Given the description of an element on the screen output the (x, y) to click on. 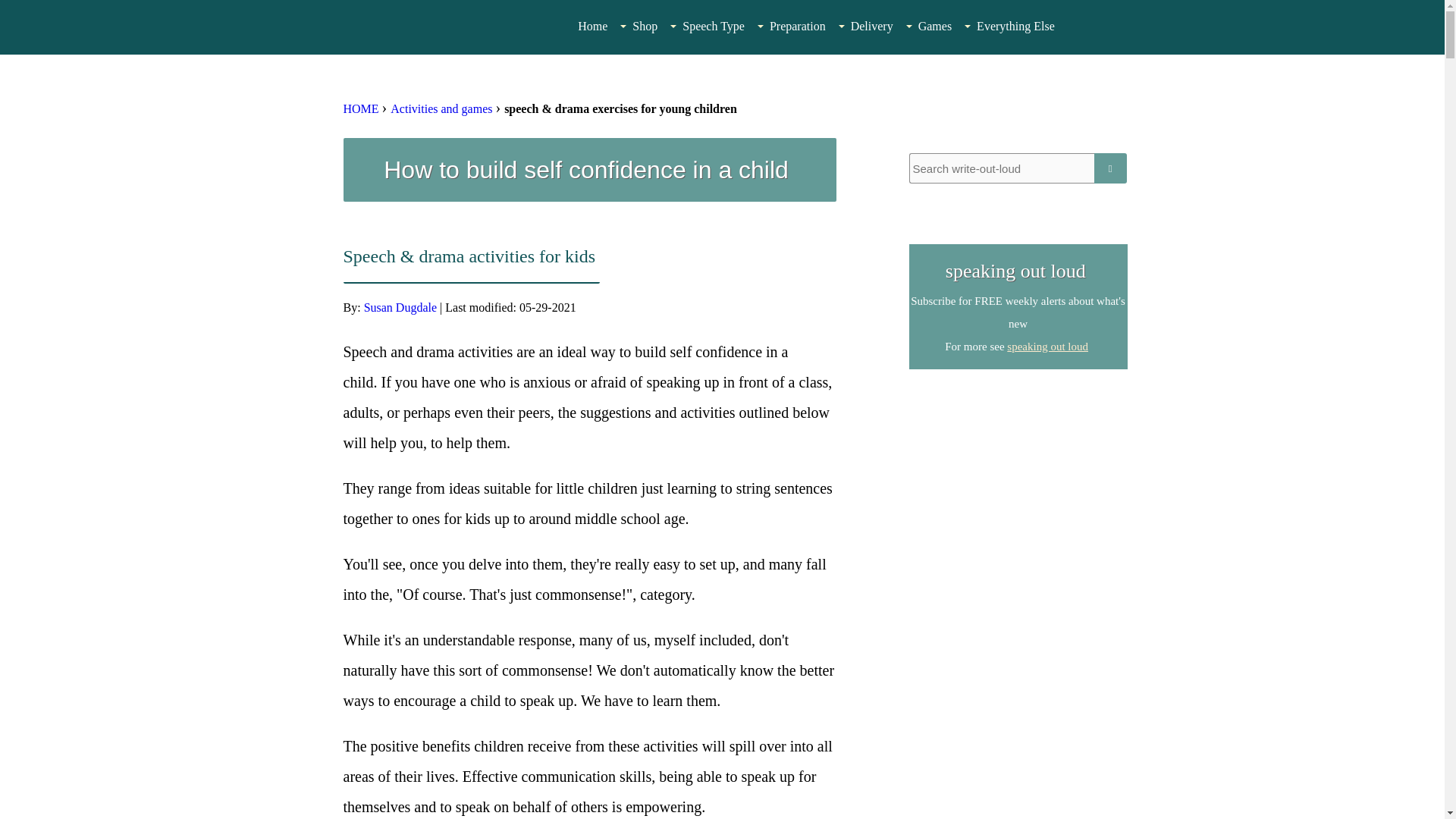
Home (592, 26)
Susan Dugdale - write-out-loud.com - Contact (1017, 479)
